Given the description of an element on the screen output the (x, y) to click on. 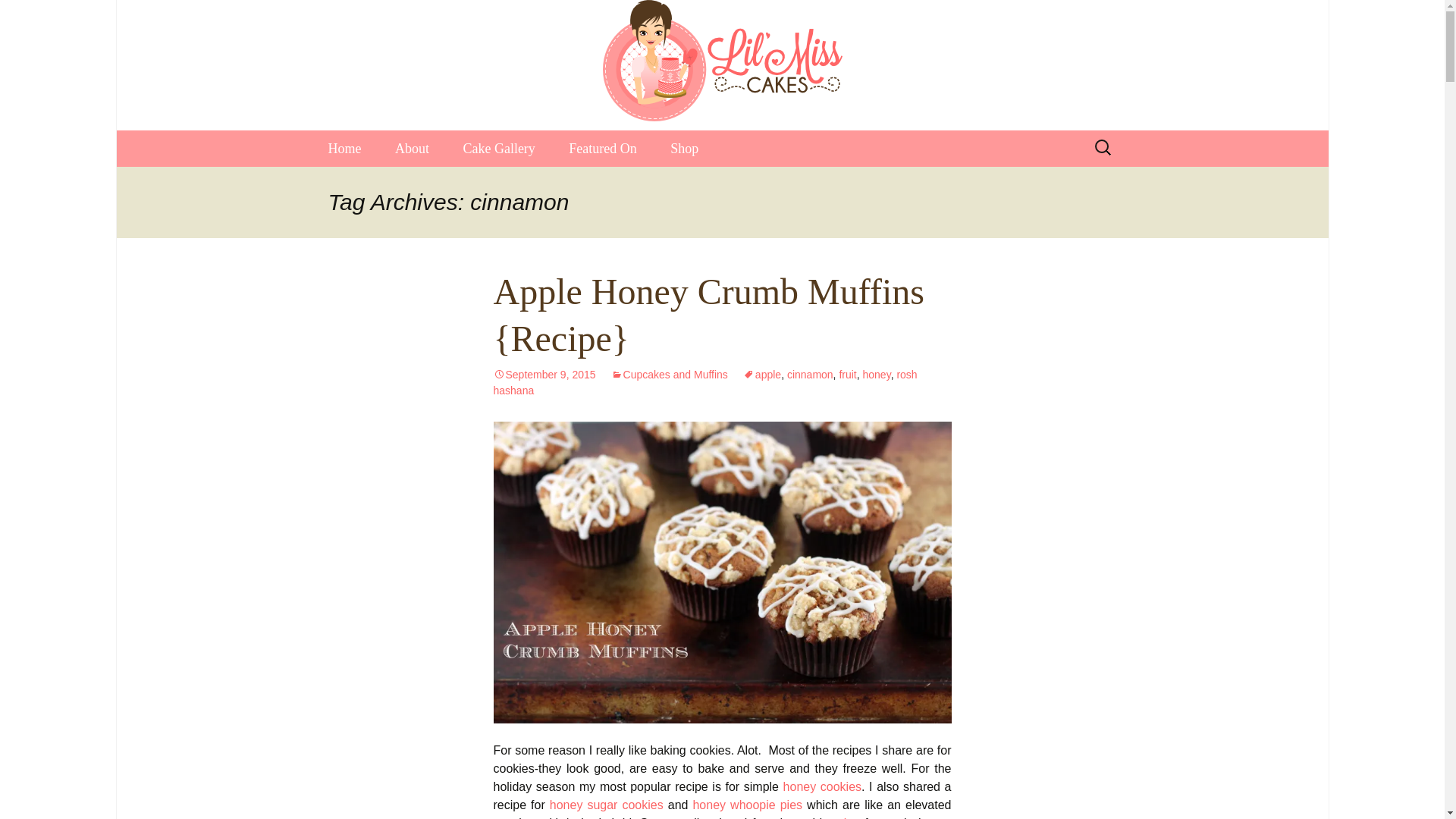
Lil' Miss Cakes (722, 60)
honey whoopie pies (747, 804)
honey sugar cookies (606, 804)
Search (18, 15)
September 9, 2015 (544, 374)
Featured On (601, 148)
Cupcakes and Muffins (669, 374)
fruit (847, 374)
rosh hashana (705, 382)
apple (761, 374)
